Given the description of an element on the screen output the (x, y) to click on. 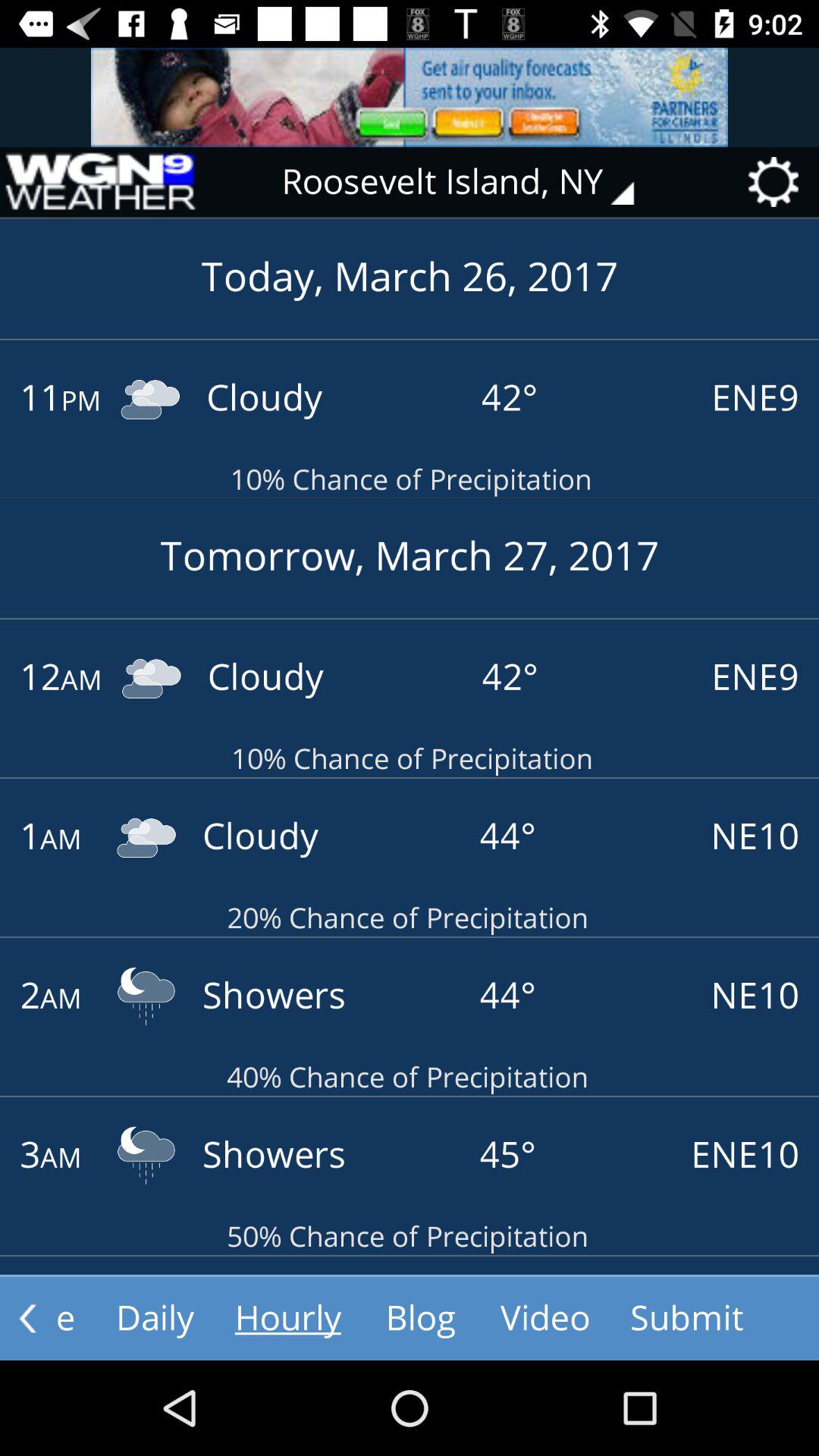
go to home page (99, 182)
